Given the description of an element on the screen output the (x, y) to click on. 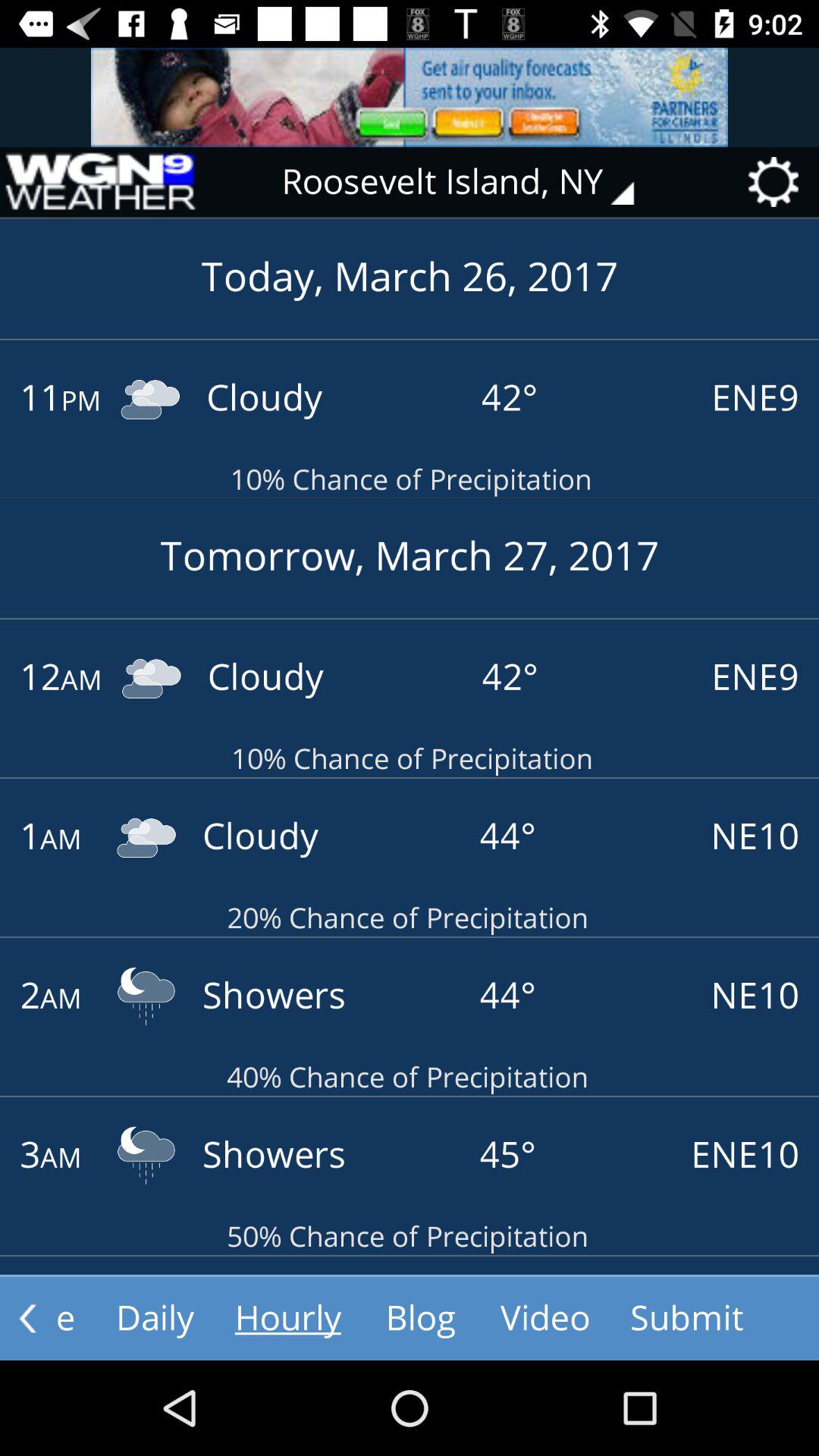
go to home page (99, 182)
